Given the description of an element on the screen output the (x, y) to click on. 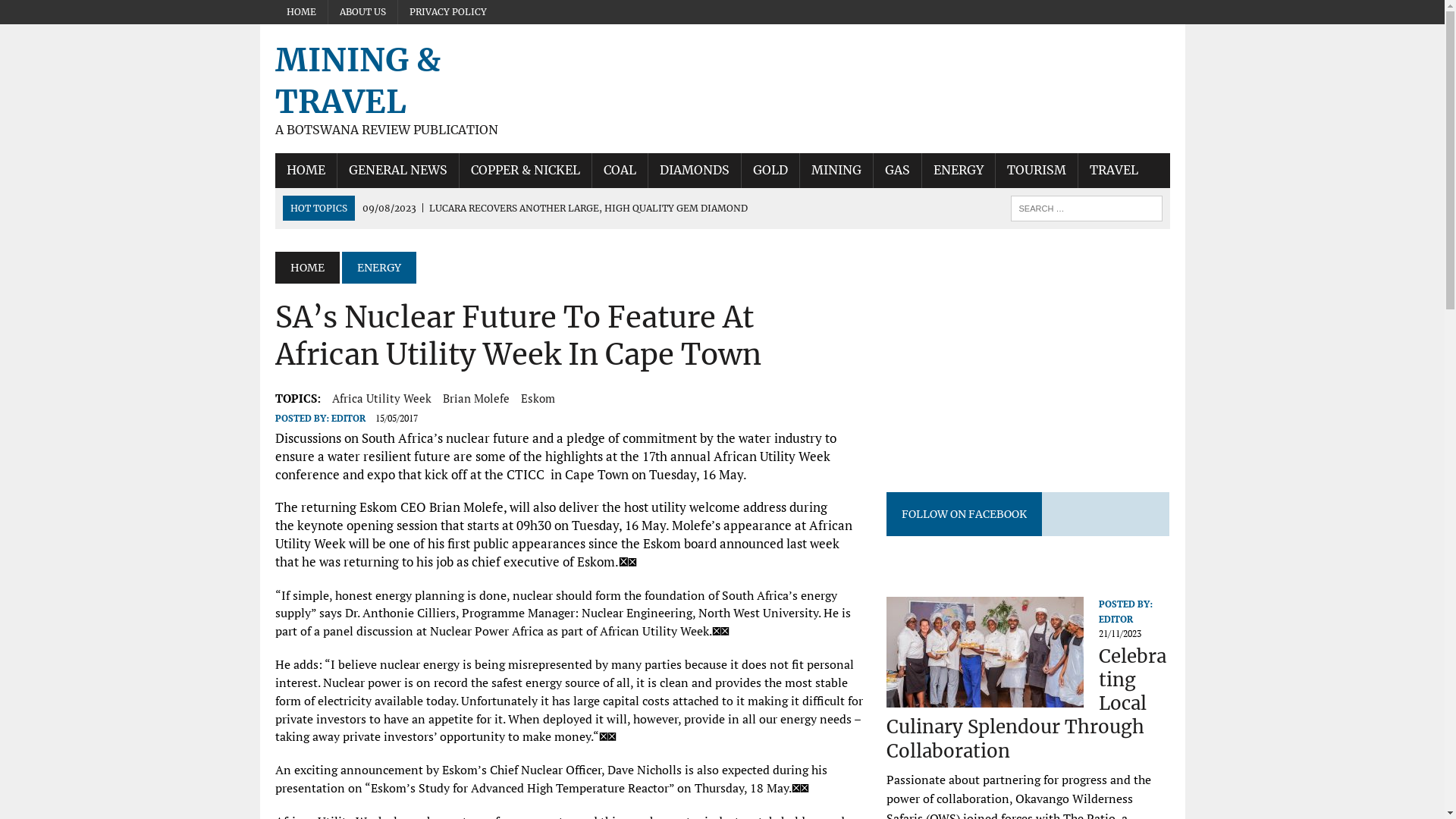
PRIVACY POLICY Element type: text (447, 12)
HOME Element type: text (300, 12)
Africa Utility Week Element type: text (381, 398)
Brian Molefe Element type: text (475, 398)
Advertisement Element type: hover (1013, 357)
GOLD Element type: text (770, 170)
TRAVEL Element type: text (1113, 170)
HOME Element type: text (306, 267)
COAL Element type: text (618, 170)
HOME Element type: text (304, 170)
ENERGY Element type: text (378, 267)
ABOUT US Element type: text (361, 12)
DIAMONDS Element type: text (693, 170)
GAS Element type: text (897, 170)
EDITOR Element type: text (347, 417)
Eskom Element type: text (537, 398)
GENERAL NEWS Element type: text (397, 170)
COPPER & NICKEL Element type: text (525, 170)
MINING Element type: text (835, 170)
TOURISM Element type: text (1035, 170)
Search Element type: text (75, 14)
Celebrating Local Culinary Splendour Through Collaboration Element type: text (1026, 703)
Celebrating Local Culinary Splendour through Collaboration Element type: hover (984, 697)
MINING & TRAVEL
A BOTSWANA REVIEW PUBLICATION Element type: text (416, 88)
EDITOR Element type: text (1115, 618)
Advertisement Element type: hover (893, 73)
ENERGY Element type: text (958, 170)
